Given the description of an element on the screen output the (x, y) to click on. 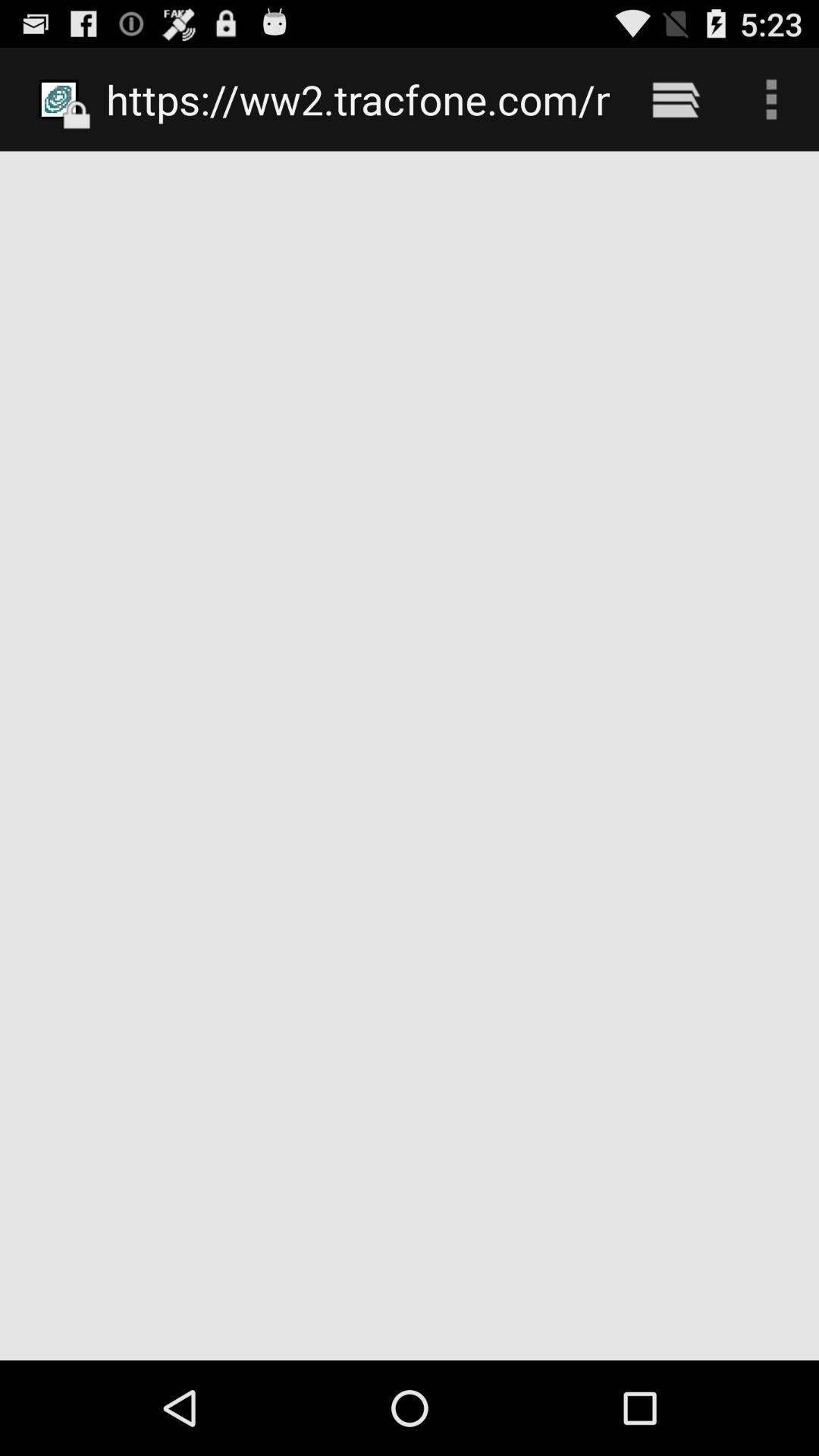
click item at the center (409, 755)
